Given the description of an element on the screen output the (x, y) to click on. 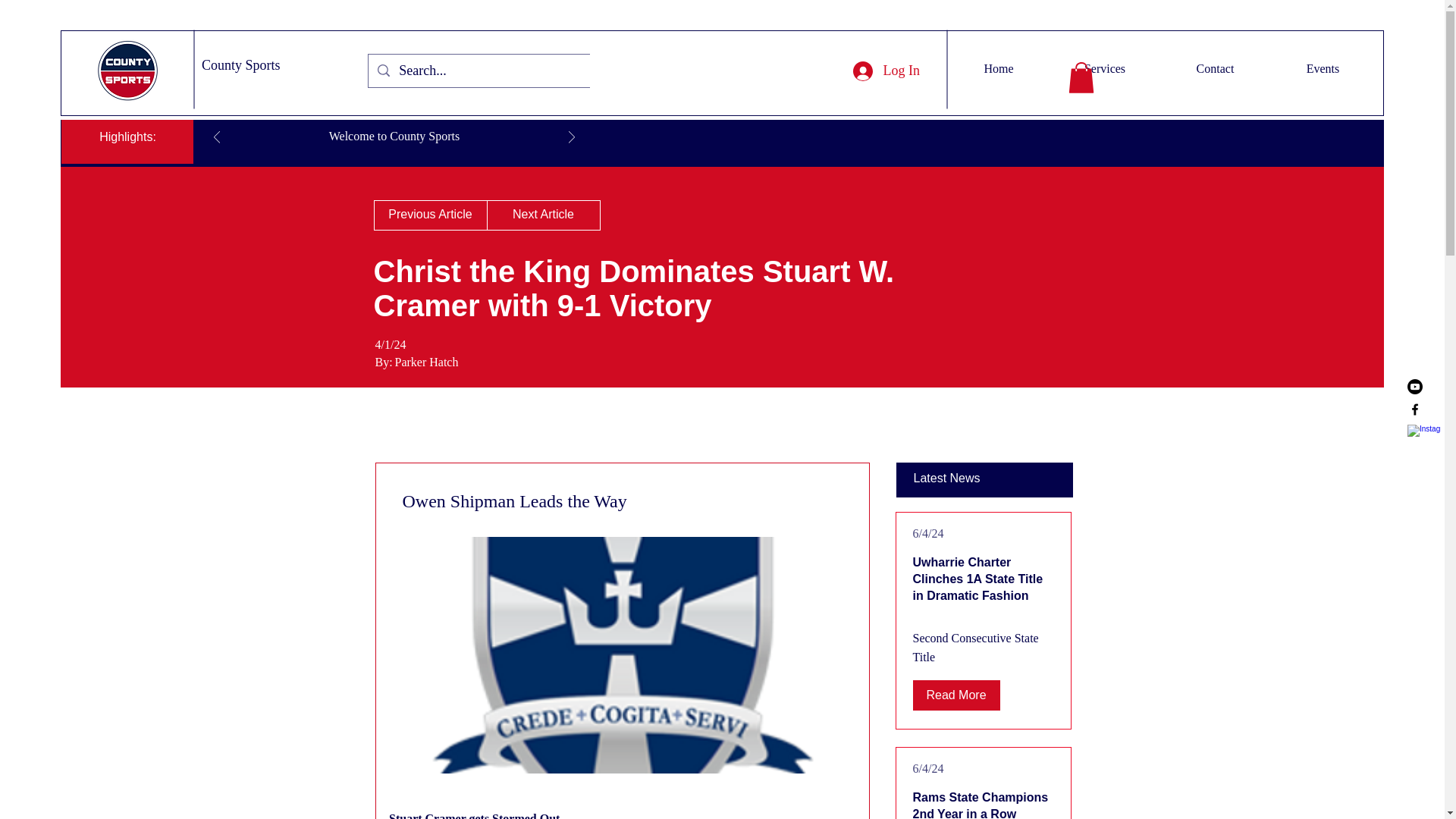
Contact (1214, 68)
Home (998, 68)
Previous Article (429, 214)
County Sports (241, 64)
CHRIST THE KING.png (621, 655)
Welcome to County Sports (394, 135)
Read More (956, 695)
Events (1322, 68)
Next Article (542, 214)
Services (1103, 68)
